Given the description of an element on the screen output the (x, y) to click on. 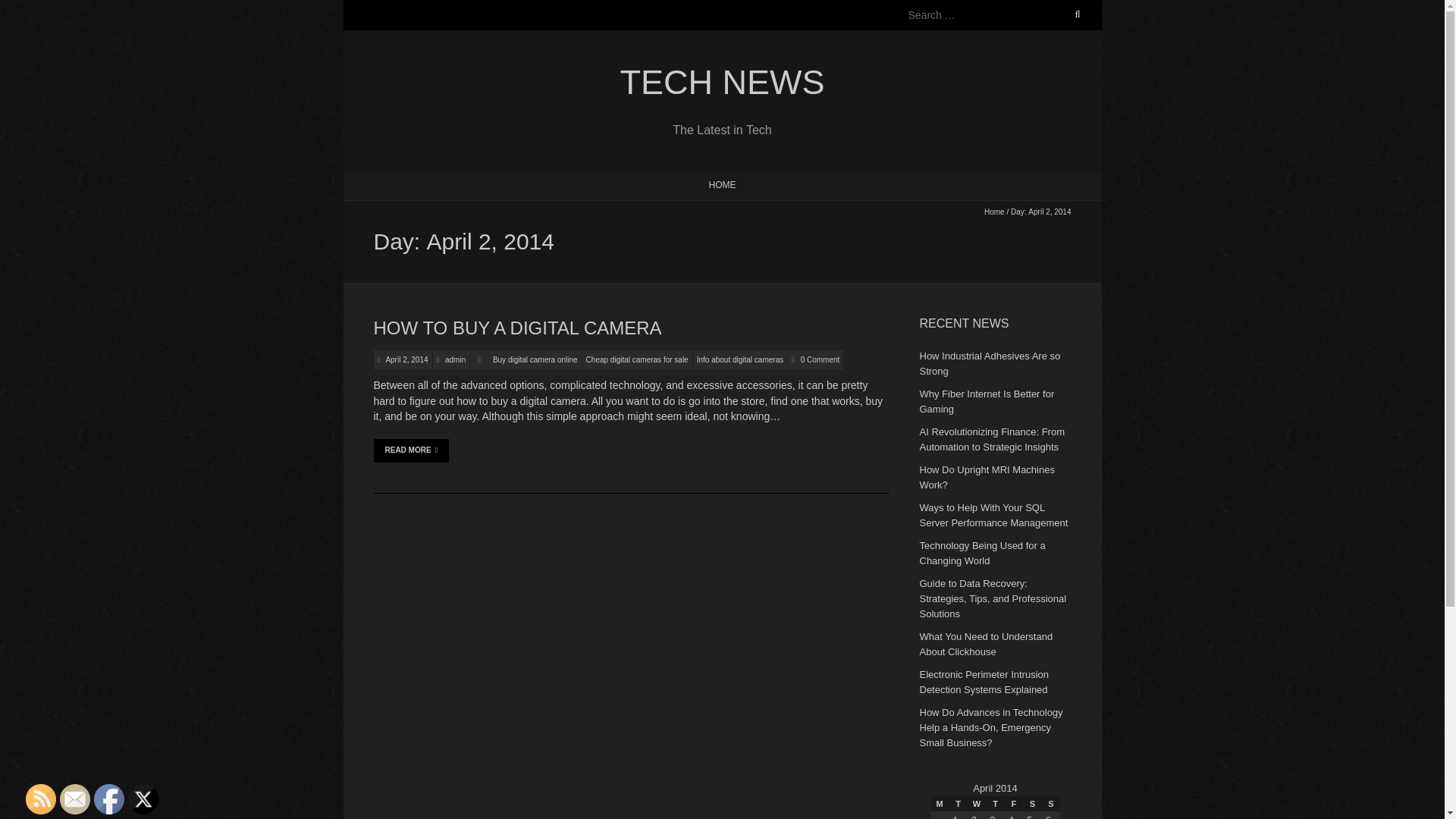
How to Buy a Digital Camera (516, 327)
Thursday (994, 803)
Saturday (1032, 803)
Buy digital camera online (534, 359)
Info about digital cameras (740, 359)
Technology Being Used for a Changing World (981, 552)
Category (478, 359)
Cheap digital cameras for sale (637, 359)
Electronic Perimeter Intrusion Detection Systems Explained (983, 682)
